Given the description of an element on the screen output the (x, y) to click on. 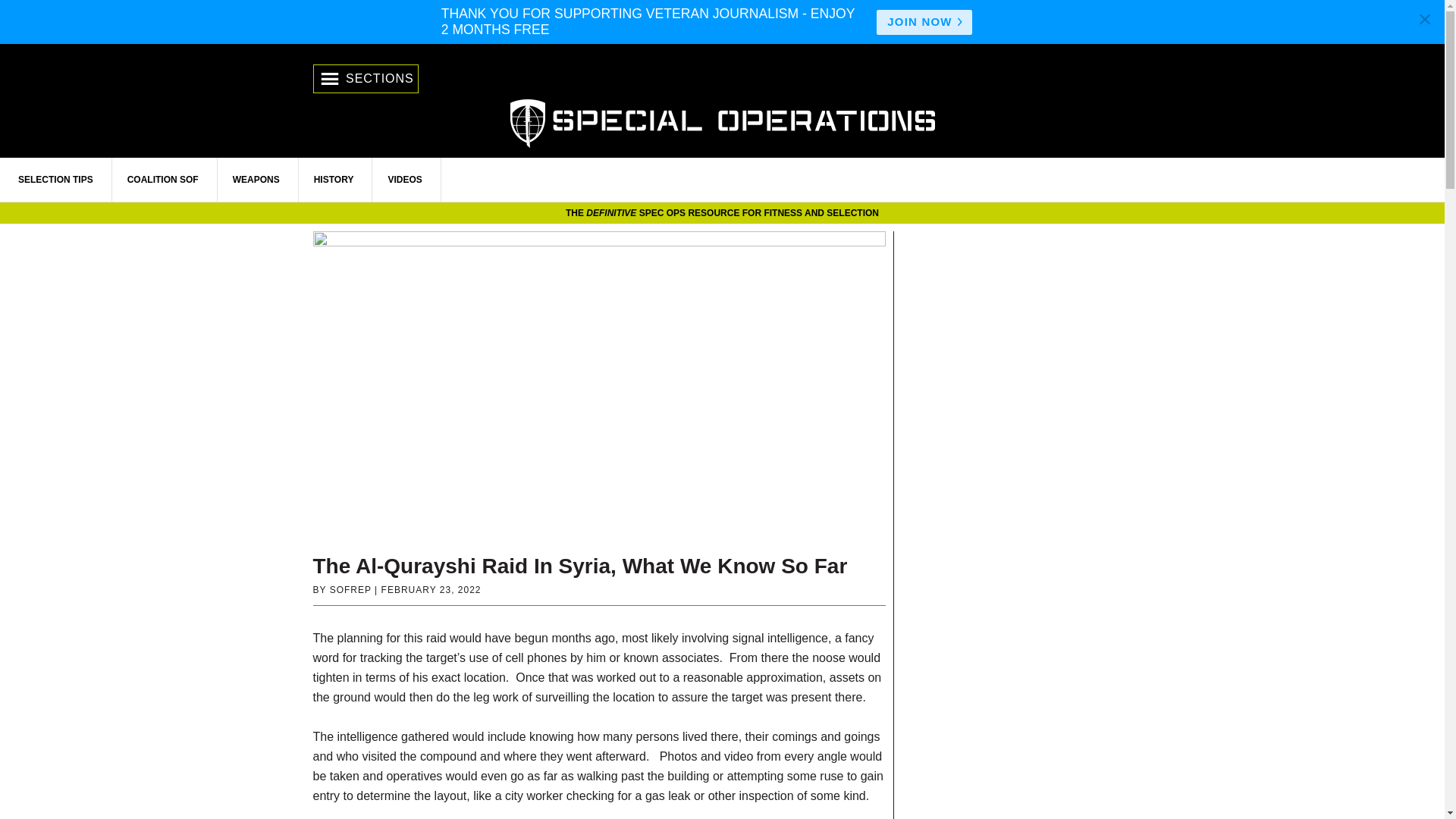
VIDEOS (405, 179)
SECTIONS (365, 78)
SOFREP (350, 589)
COALITION SOF (162, 179)
SELECTION TIPS (56, 179)
HISTORY (333, 179)
SPECIALOPERATIONS.COM (722, 121)
WEAPONS (256, 179)
